Given the description of an element on the screen output the (x, y) to click on. 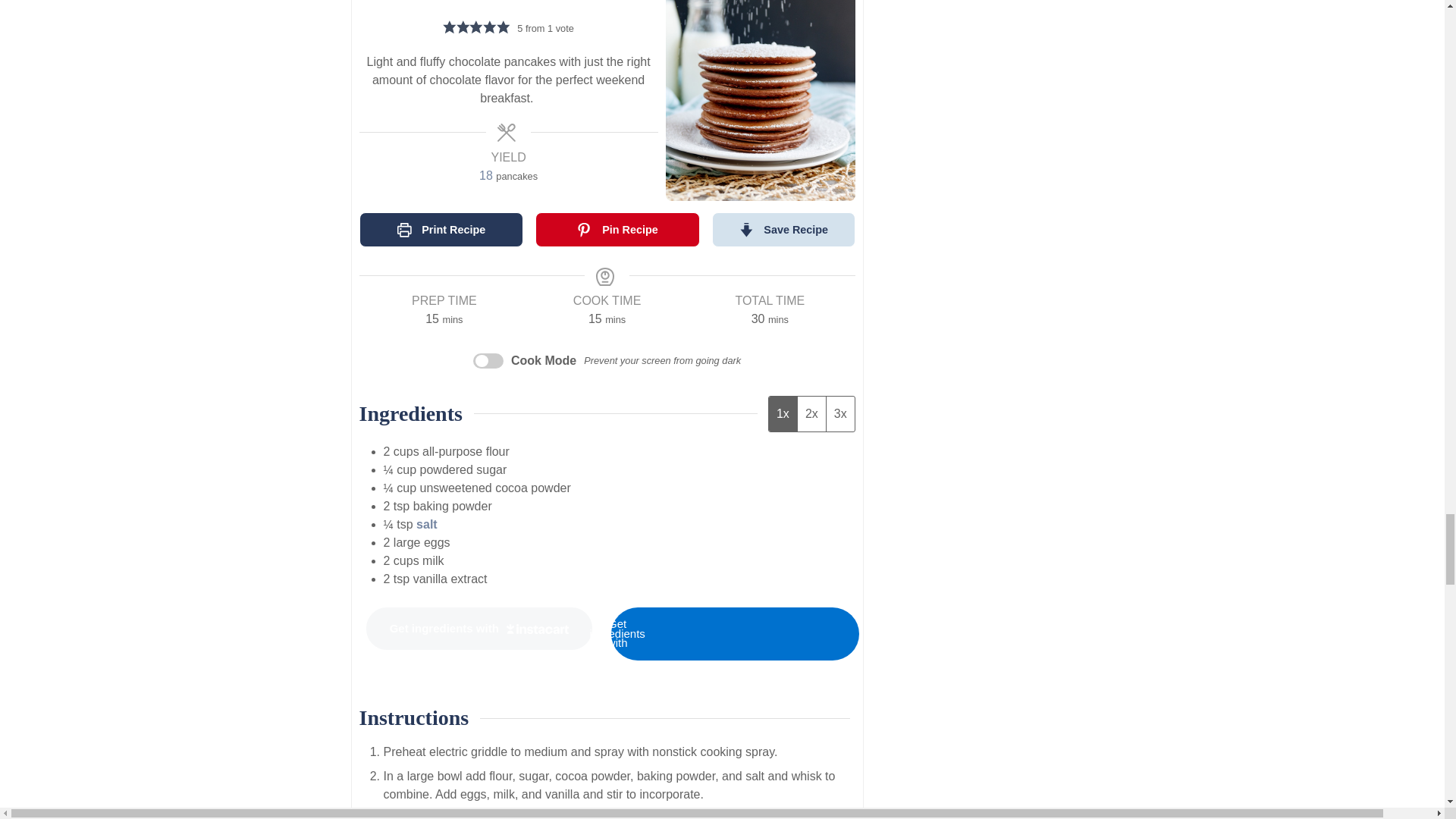
Chocolate French Silk Pancakes 5 (762, 633)
Chocolate French Silk Pancakes 4 (760, 100)
